Given the description of an element on the screen output the (x, y) to click on. 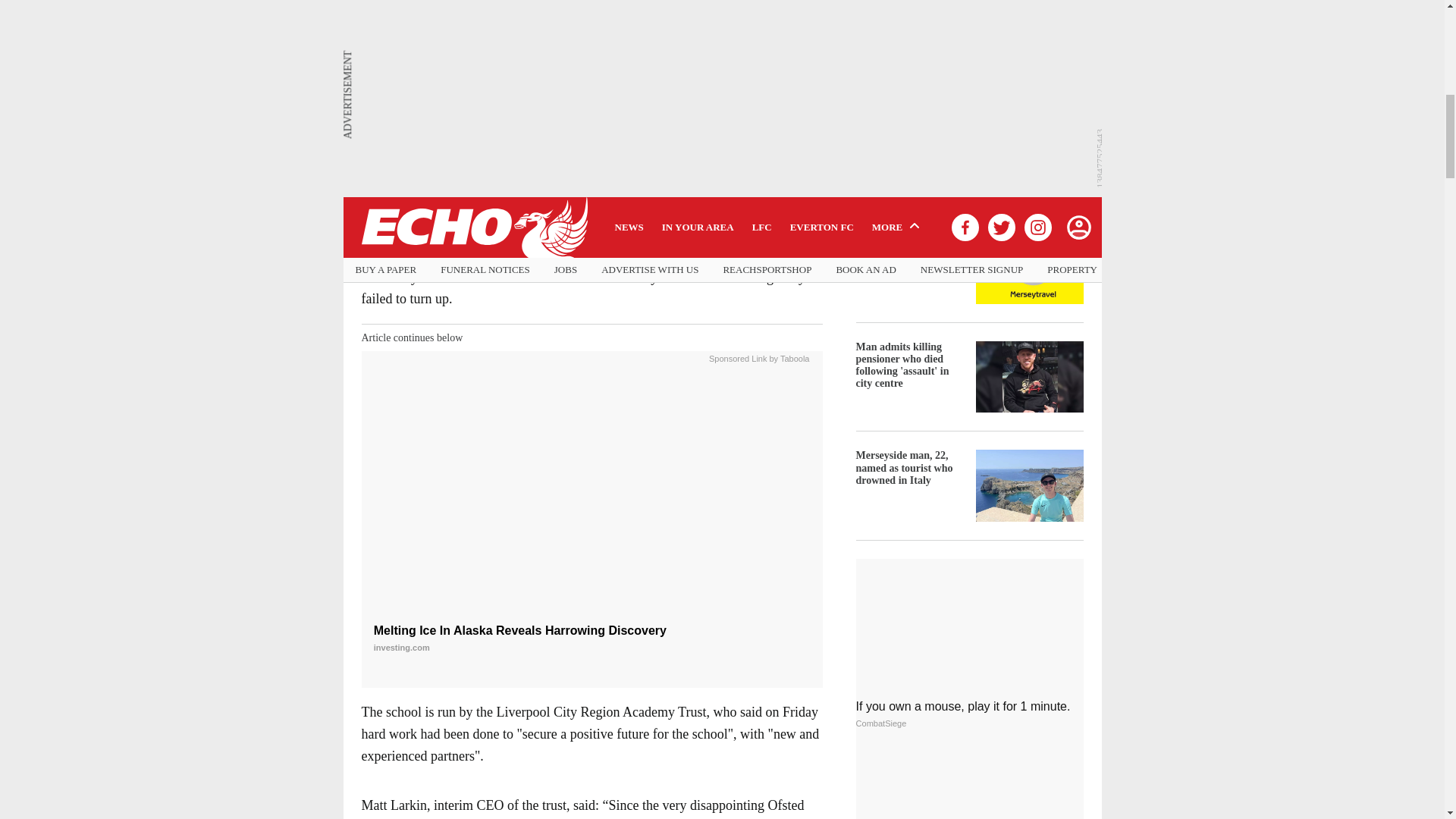
Melting Ice In Alaska Reveals Harrowing Discovery (592, 496)
Ofsted inspectors (649, 255)
Melting Ice In Alaska Reveals Harrowing Discovery (592, 639)
Sponsored Link (738, 357)
by Taboola (788, 357)
